Given the description of an element on the screen output the (x, y) to click on. 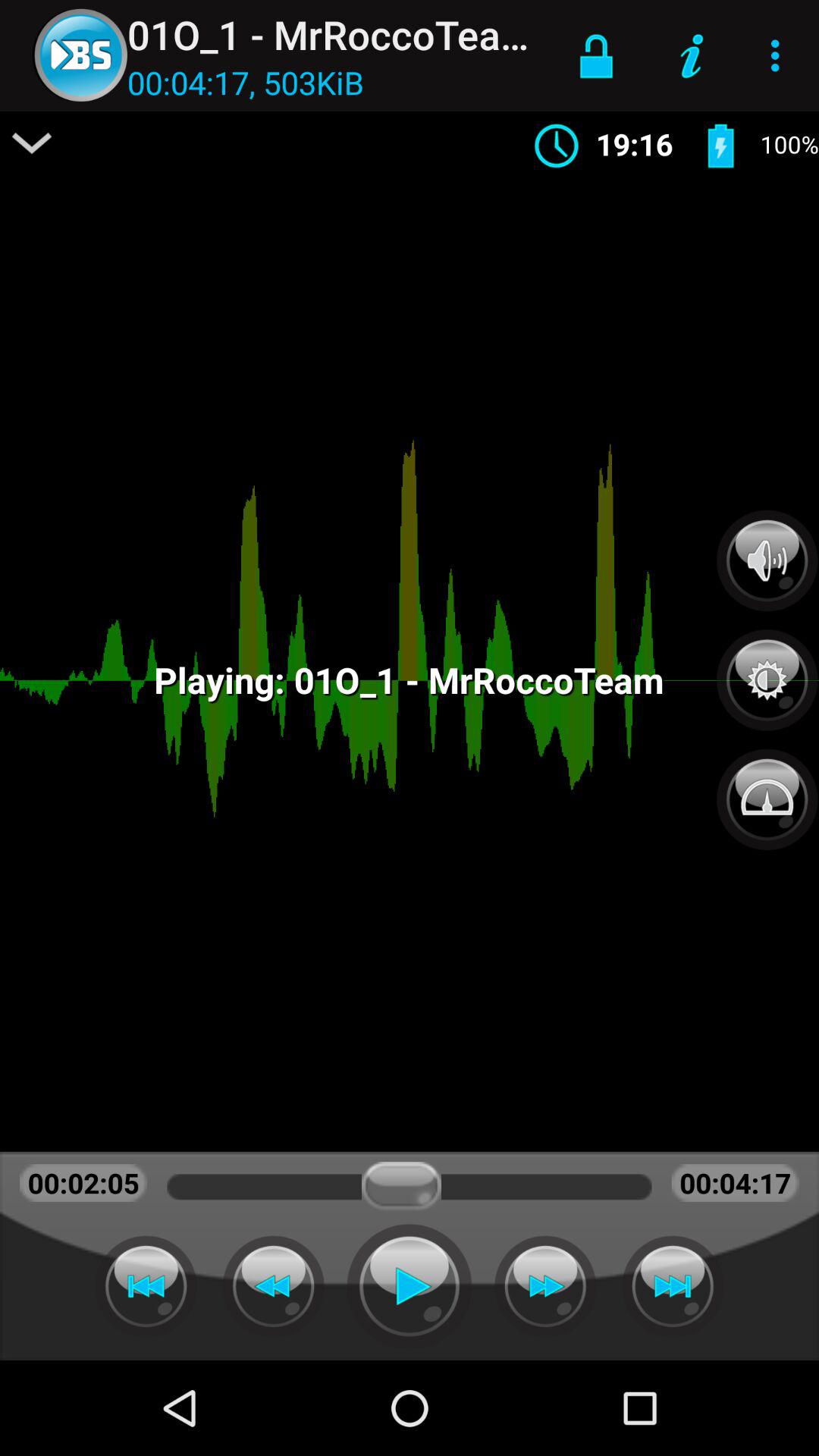
this app is able to play any video and have multiple options like play or share (409, 1286)
